Given the description of an element on the screen output the (x, y) to click on. 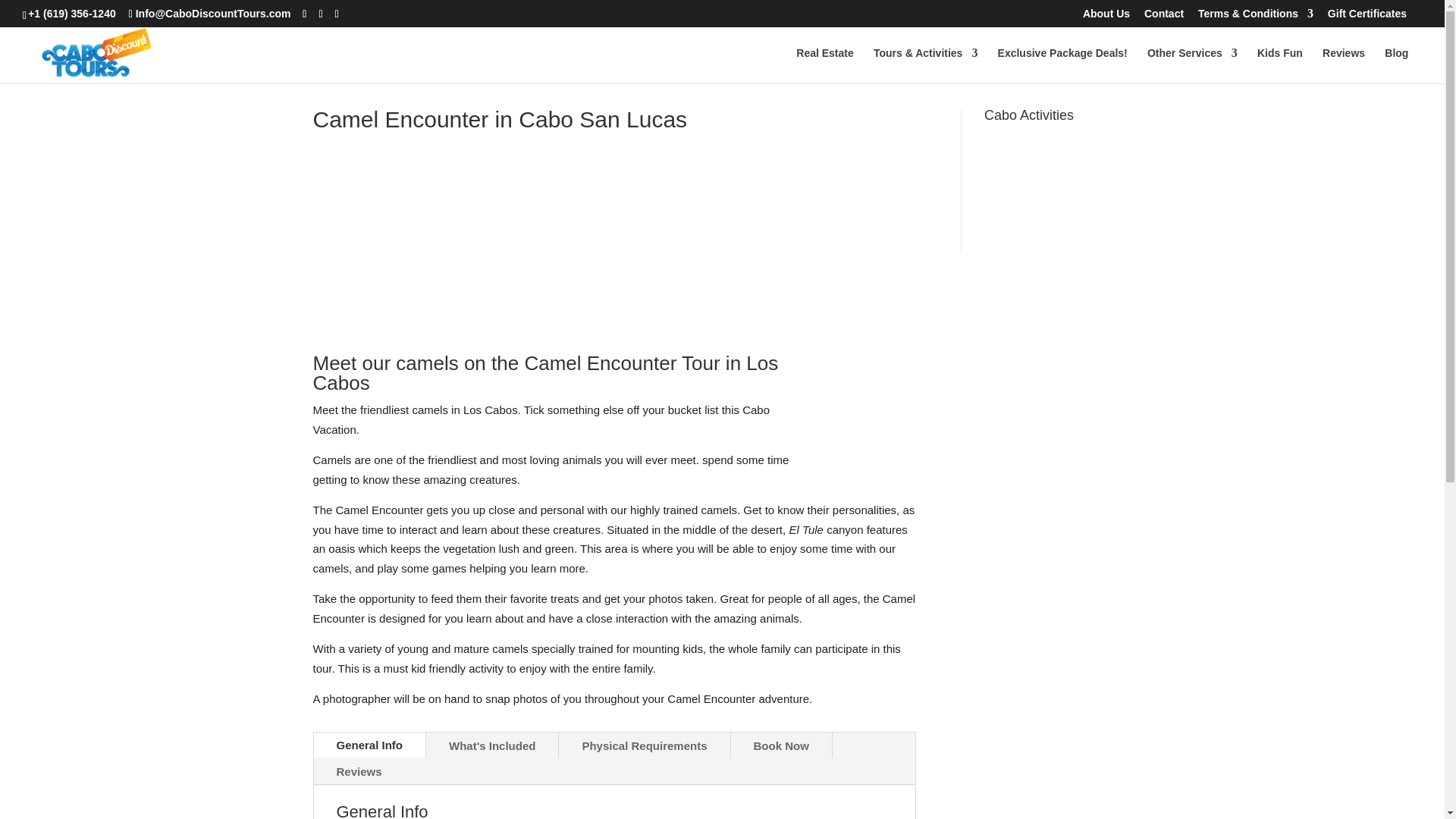
About Us (1106, 16)
Real Estate (824, 65)
Gift Certificates (1366, 16)
Contact (1163, 16)
Other Services (1192, 65)
Exclusive Package Deals! (1061, 65)
